Given the description of an element on the screen output the (x, y) to click on. 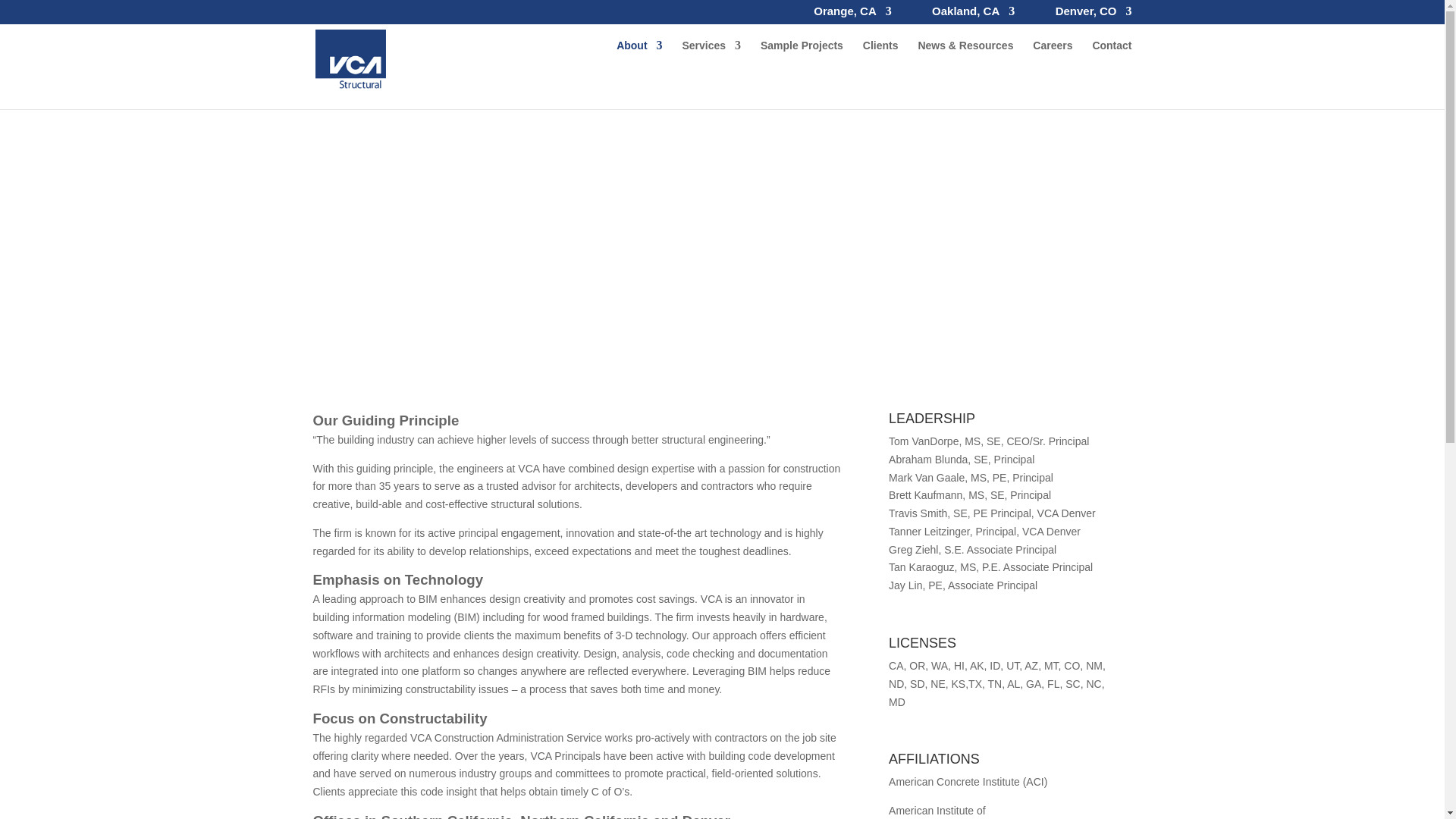
Denver, CO (1093, 15)
Orange, CA (852, 15)
Sample Projects (801, 74)
Oakland, CA (972, 15)
